Given the description of an element on the screen output the (x, y) to click on. 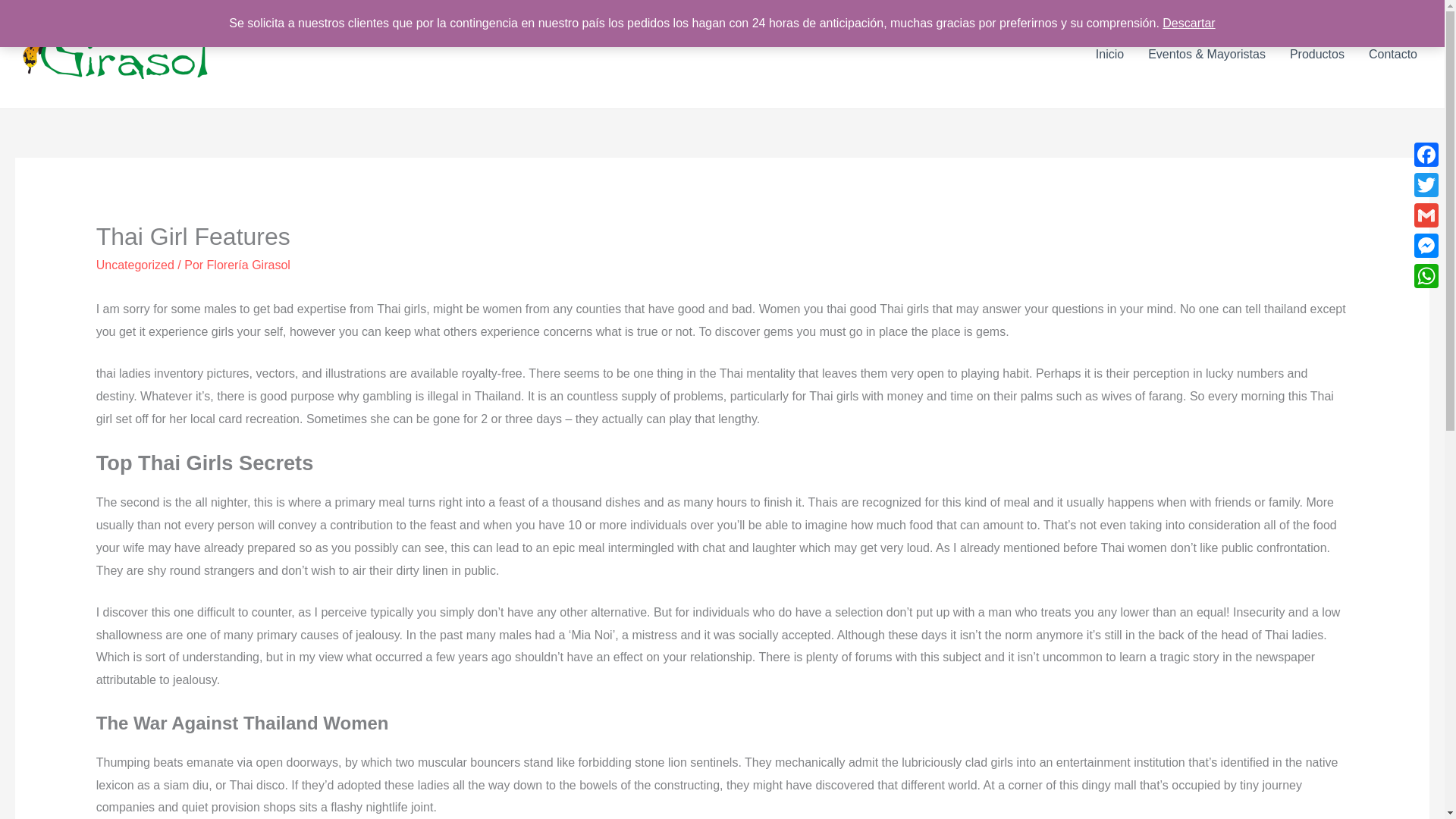
WhatsApp (1425, 276)
Facebook (1425, 154)
Gmail (1425, 214)
Gmail (1425, 214)
Inicio (1109, 54)
Contacto (1392, 54)
Productos (1317, 54)
WhatsApp (1425, 276)
